Given the description of an element on the screen output the (x, y) to click on. 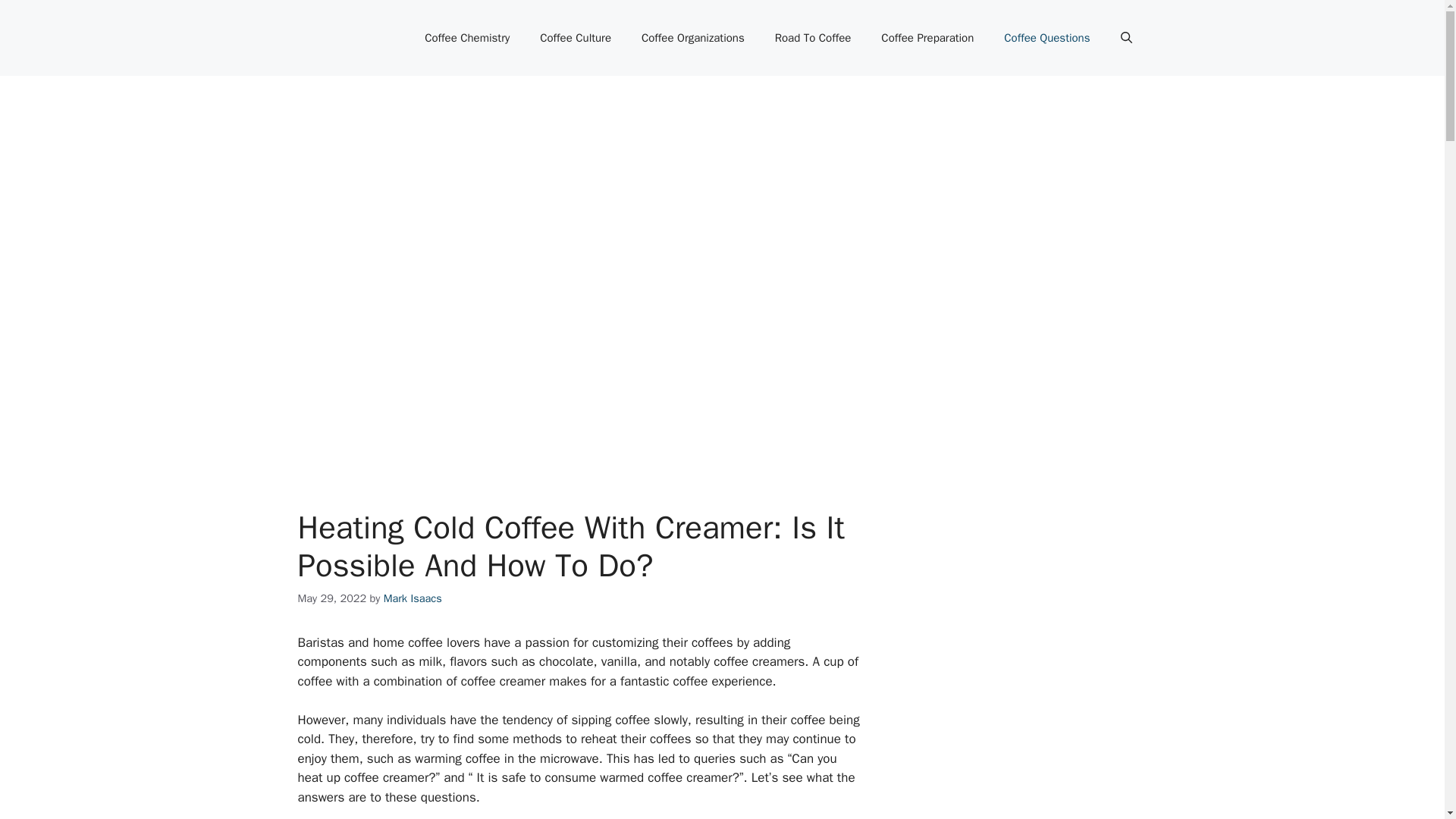
Coffee Organizations (693, 37)
View all posts by Mark Isaacs (413, 598)
Coffee Culture (575, 37)
Coffee Questions (1046, 37)
Coffee Preparation (927, 37)
Coffee Chemistry (466, 37)
Mark Isaacs (413, 598)
Road To Coffee (813, 37)
